Given the description of an element on the screen output the (x, y) to click on. 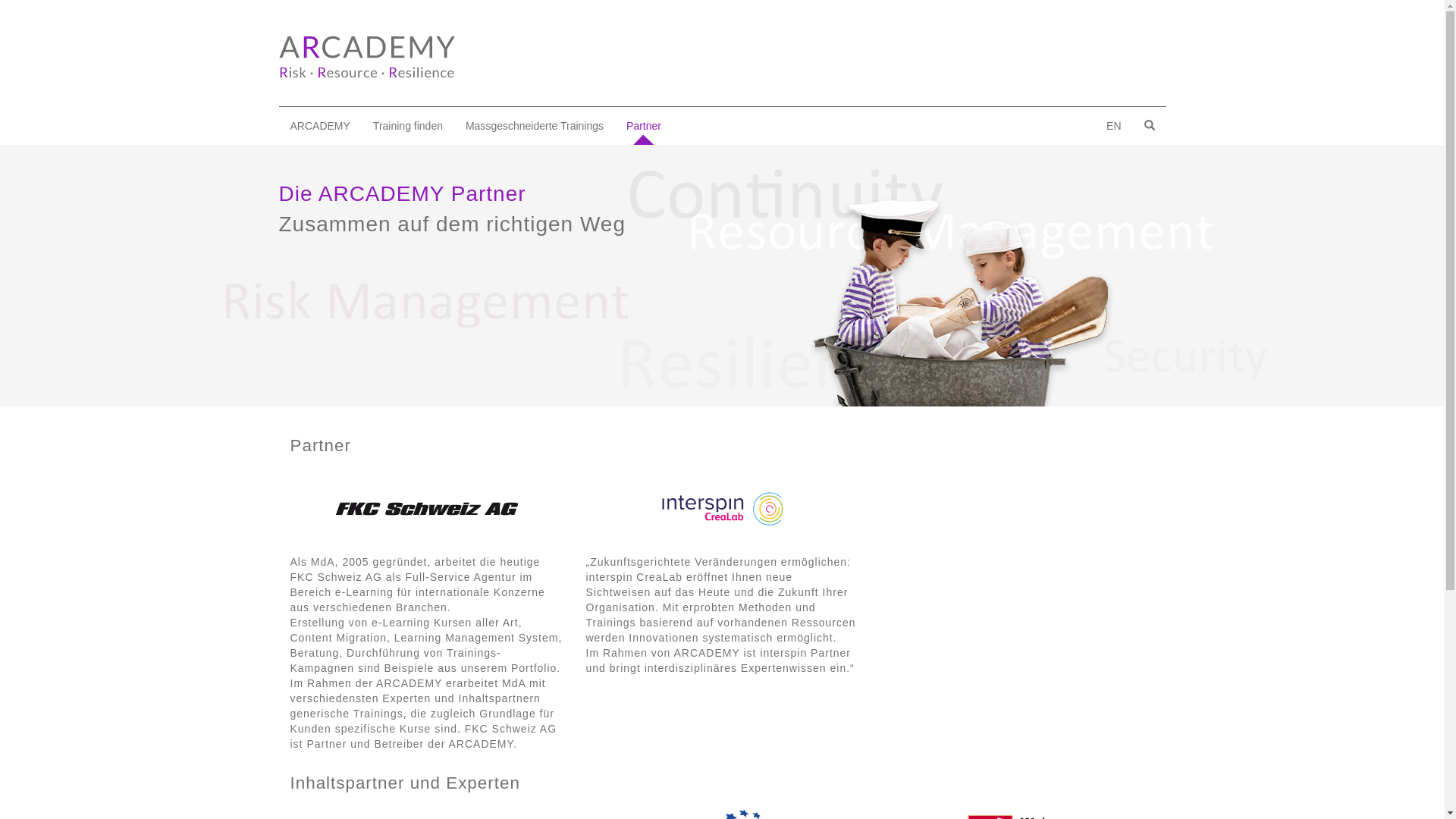
Massgeschneiderte Trainings Element type: text (534, 125)
Training finden Element type: text (407, 125)
Partner Element type: text (643, 125)
EN Element type: text (1113, 125)
ARCADEMY Element type: text (320, 125)
